Given the description of an element on the screen output the (x, y) to click on. 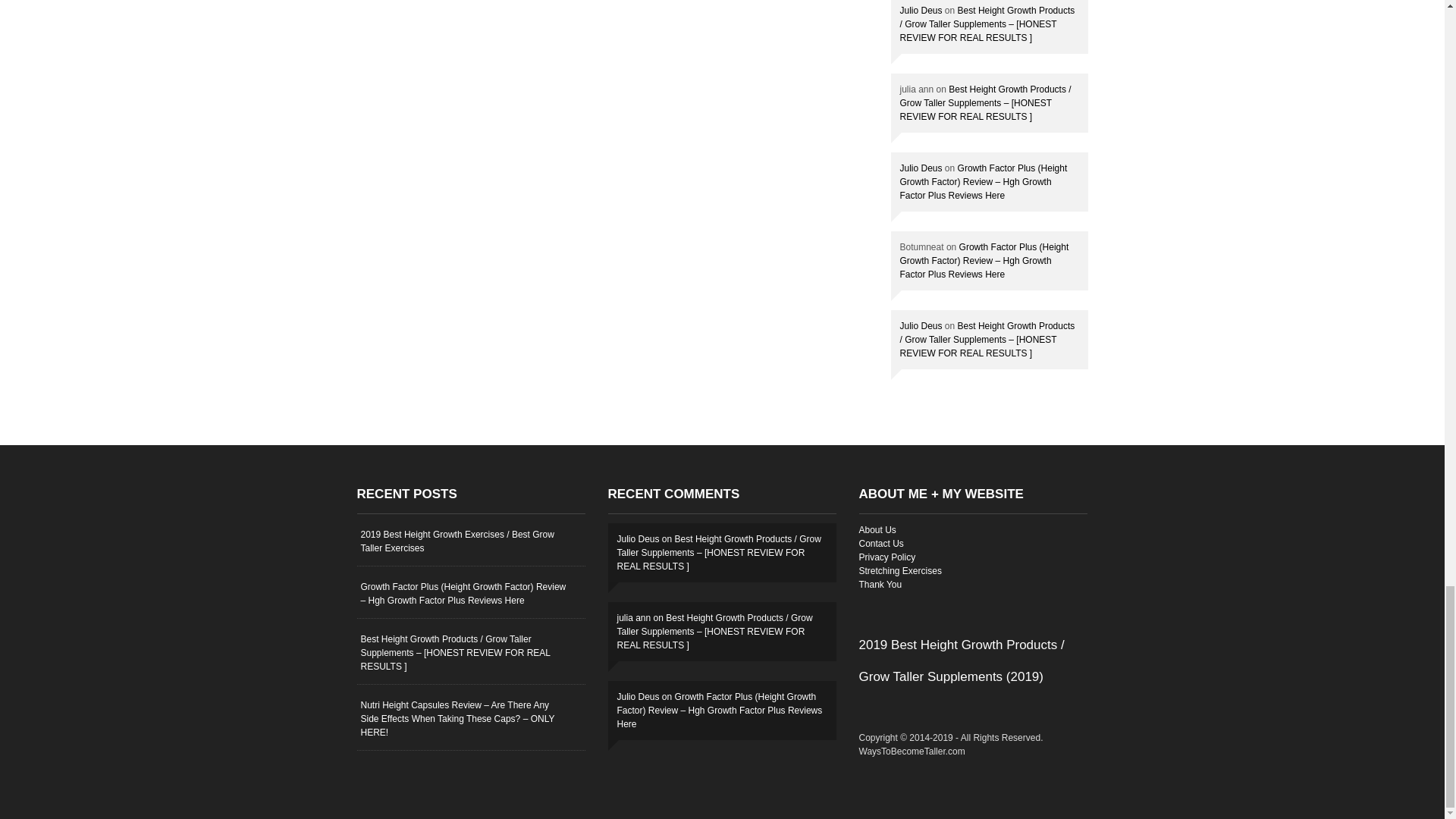
Julio Deus (920, 326)
Julio Deus (920, 9)
Julio Deus (920, 167)
